Given the description of an element on the screen output the (x, y) to click on. 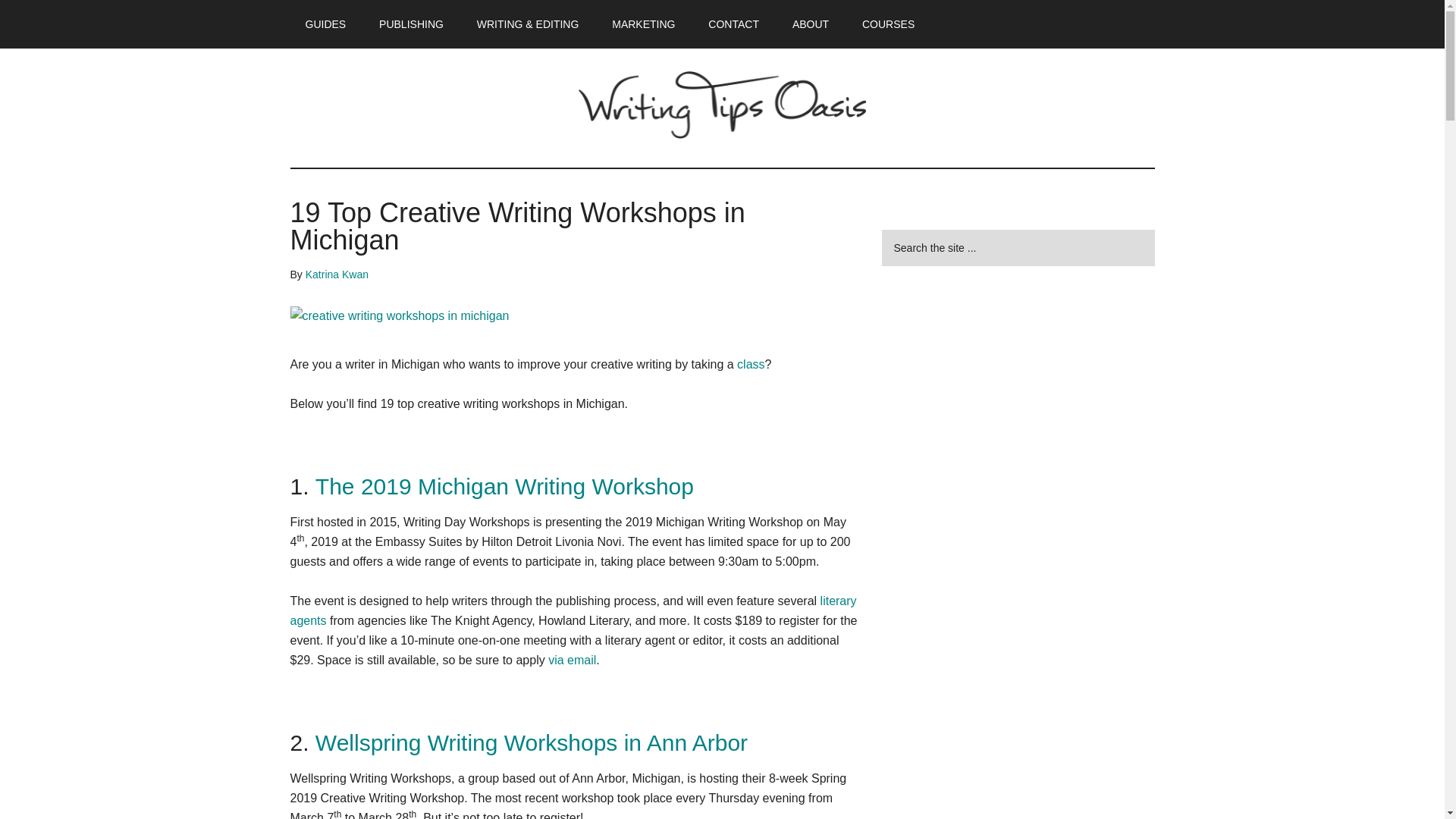
via email (571, 659)
Wellspring Writing Workshops in Ann Arbor (531, 742)
COURSES (888, 24)
ABOUT (810, 24)
GUIDES (325, 24)
PUBLISHING (411, 24)
Katrina Kwan (336, 274)
The 2019 Michigan Writing Workshop (504, 486)
literary agents (572, 610)
CONTACT (733, 24)
MARKETING (643, 24)
class (750, 364)
